Given the description of an element on the screen output the (x, y) to click on. 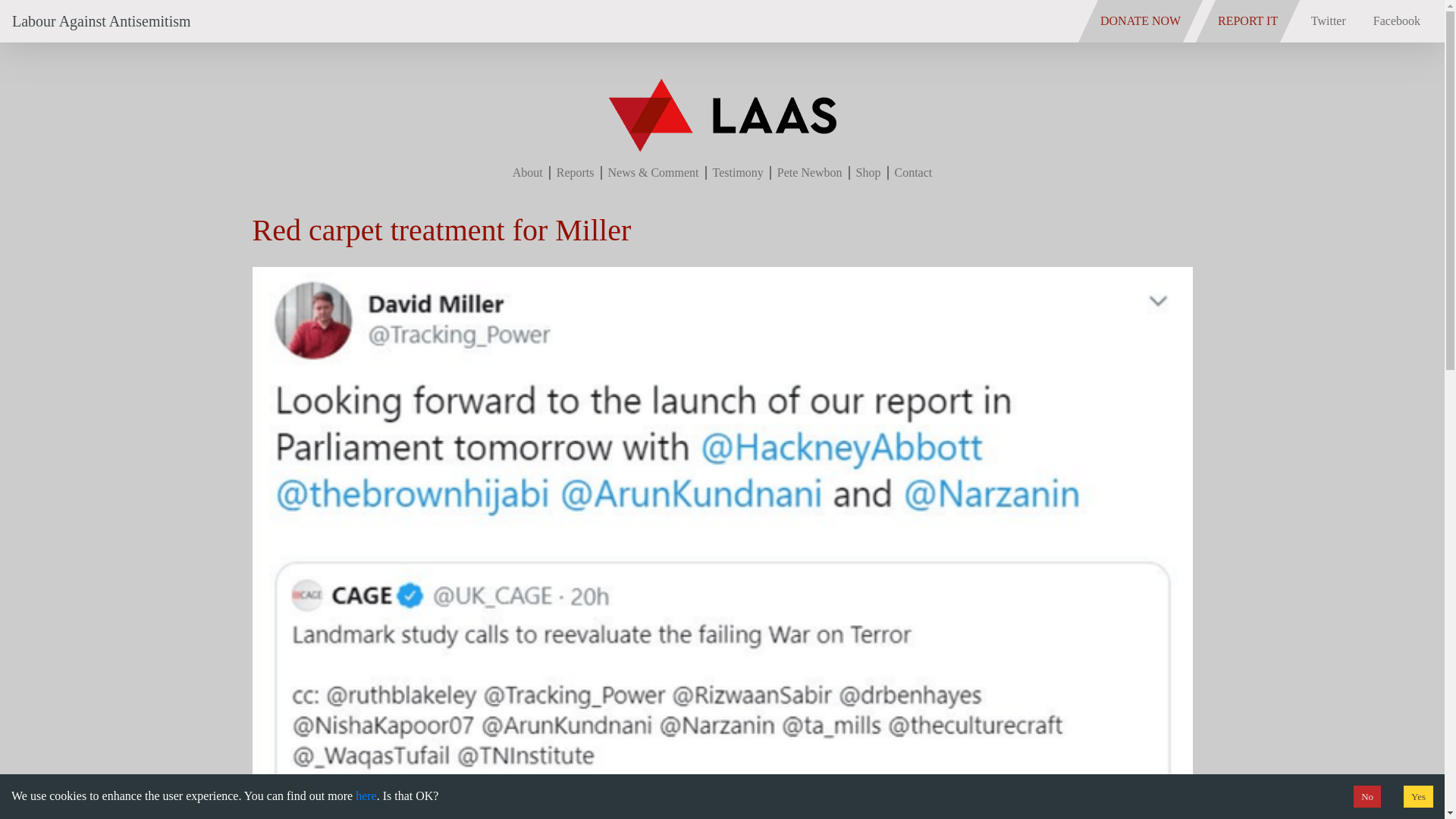
Pete Newbon (810, 172)
Contact (914, 172)
Reports (575, 172)
Twitter (1328, 20)
REPORT IT (1247, 21)
No (1367, 796)
Labour Against Antisemitism (100, 21)
Facebook (1397, 20)
DONATE NOW (1140, 21)
Shop (868, 172)
here (364, 794)
Testimony (737, 172)
Yes (1417, 796)
About (527, 172)
